Given the description of an element on the screen output the (x, y) to click on. 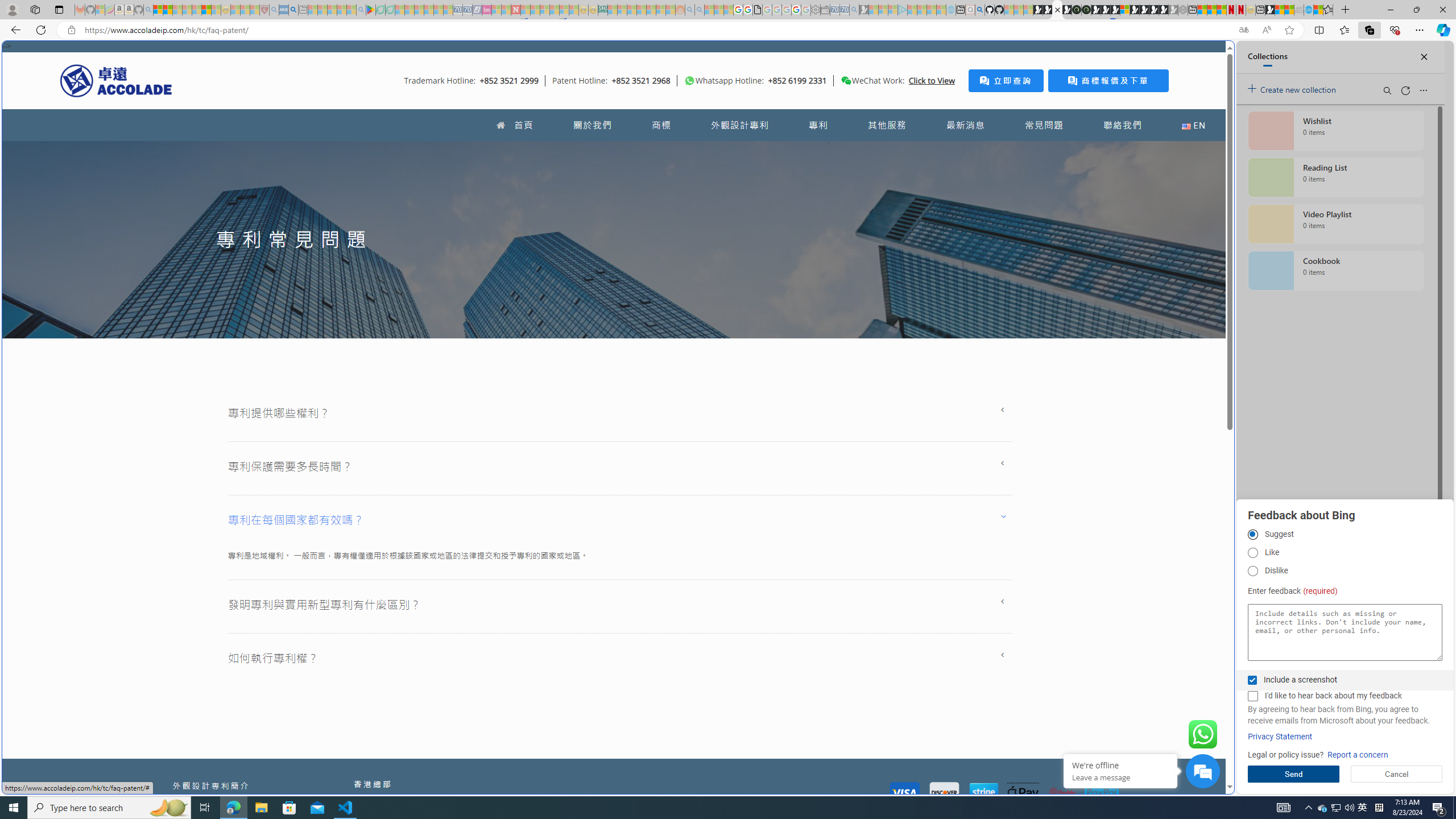
Privacy Statement (1280, 737)
utah sues federal government - Search (922, 389)
Jobs - lastminute.com Investor Portal - Sleeping (486, 9)
Include a screenshot (1251, 679)
